Given the description of an element on the screen output the (x, y) to click on. 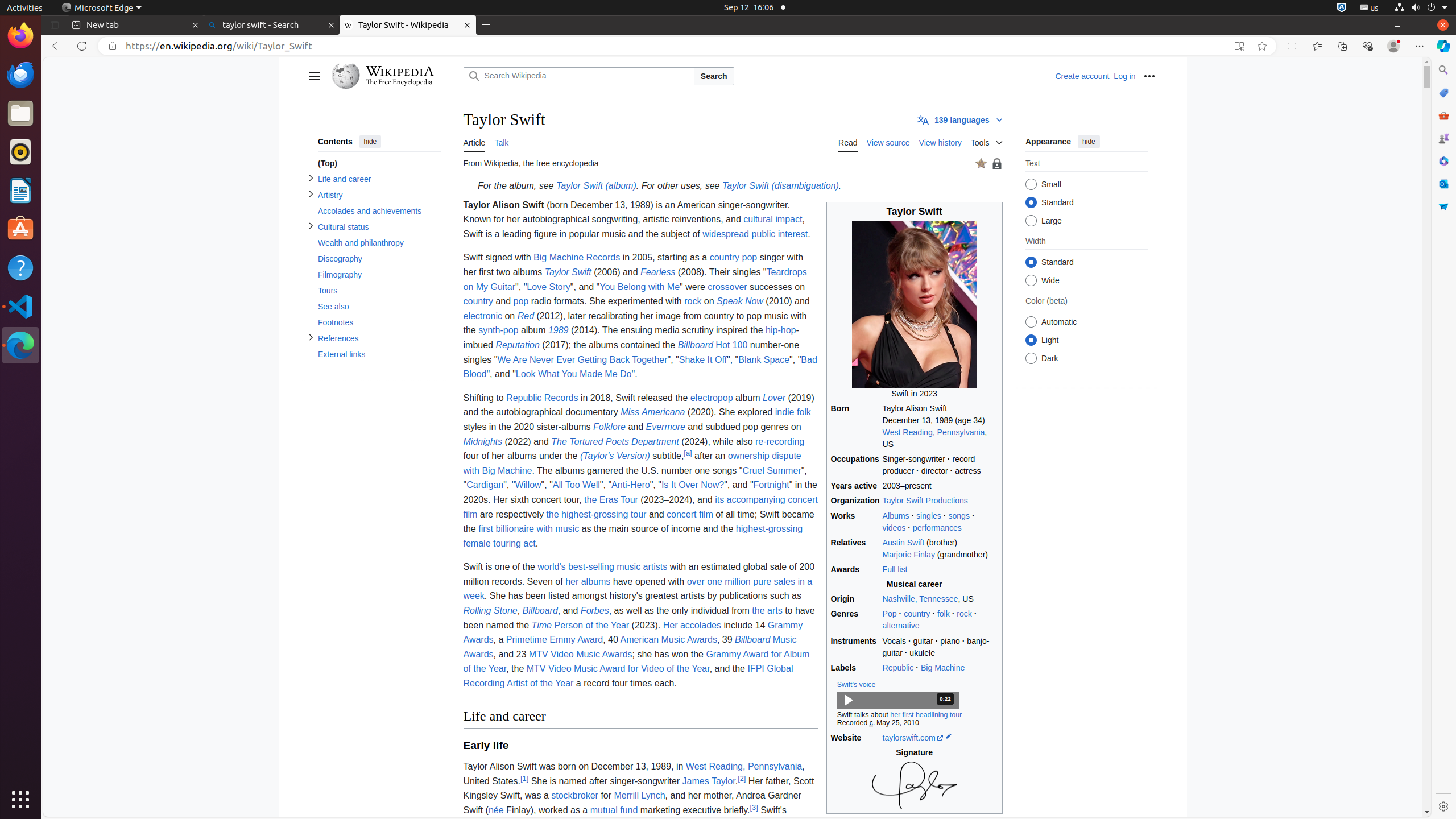
Reputation Element type: link (517, 344)
Musical career Element type: table-cell (913, 584)
Play audio Element type: push-button (897, 699)
Cardigan Element type: link (484, 485)
Is It Over Now? Element type: link (692, 485)
